Given the description of an element on the screen output the (x, y) to click on. 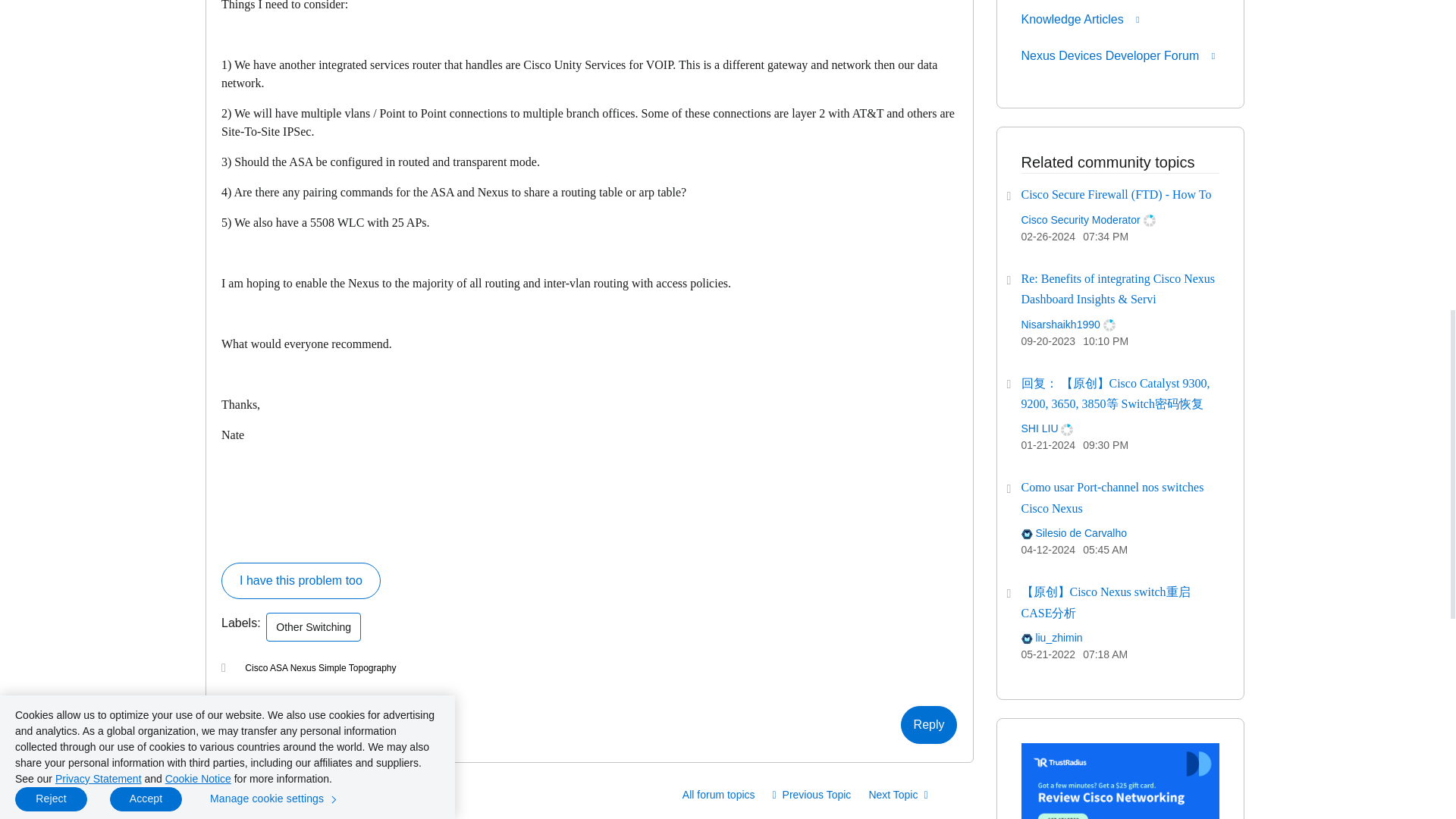
Click here if you had a similar experience (300, 580)
